Given the description of an element on the screen output the (x, y) to click on. 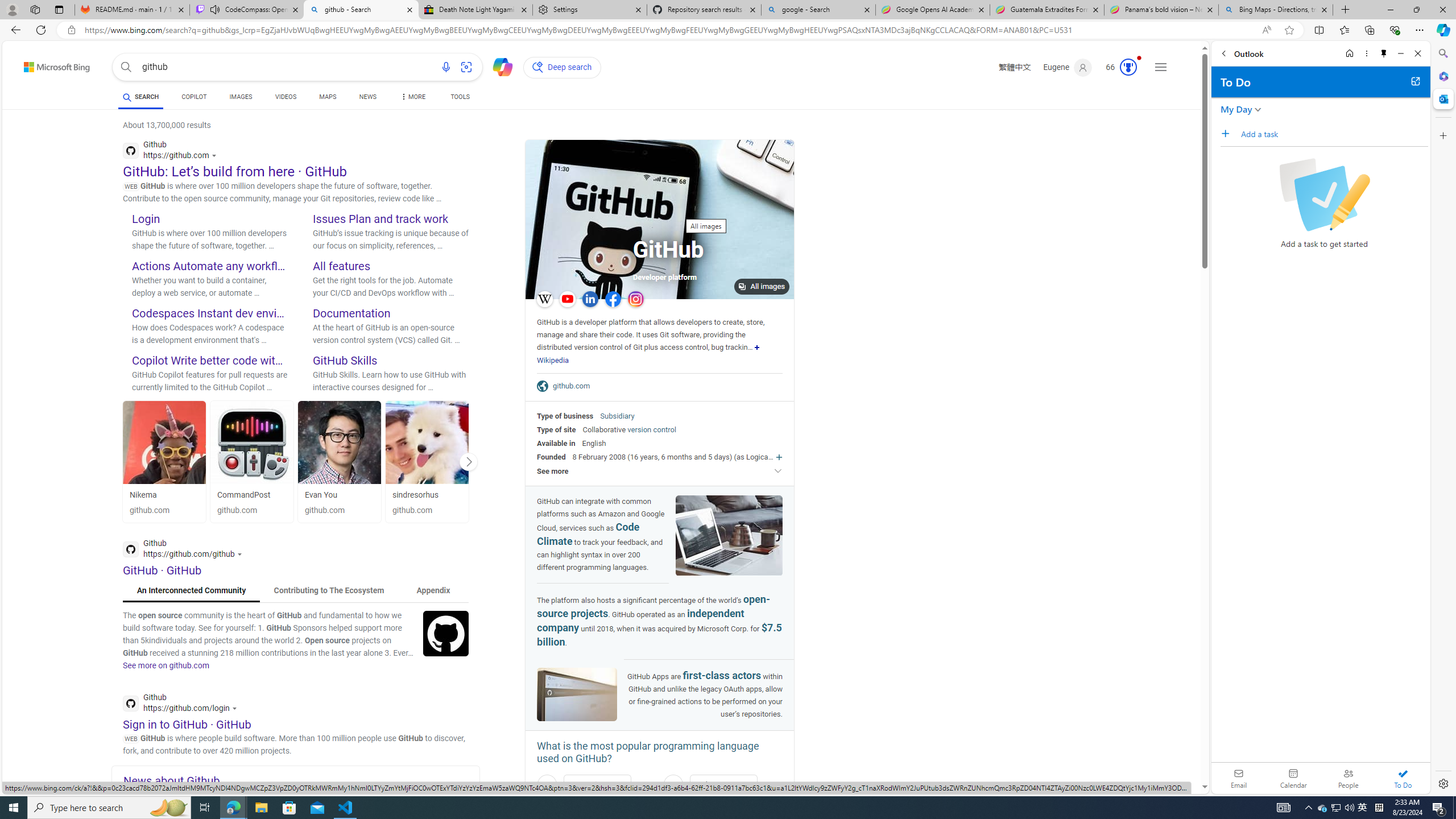
Dropdown Menu (412, 96)
Type of site (556, 429)
TOOLS (460, 98)
Subsidiary (616, 415)
Issues Plan and track work (380, 218)
Image of GitHub (577, 694)
Appendix (432, 590)
Click to scroll right (468, 461)
LinkedIn (590, 299)
